Given the description of an element on the screen output the (x, y) to click on. 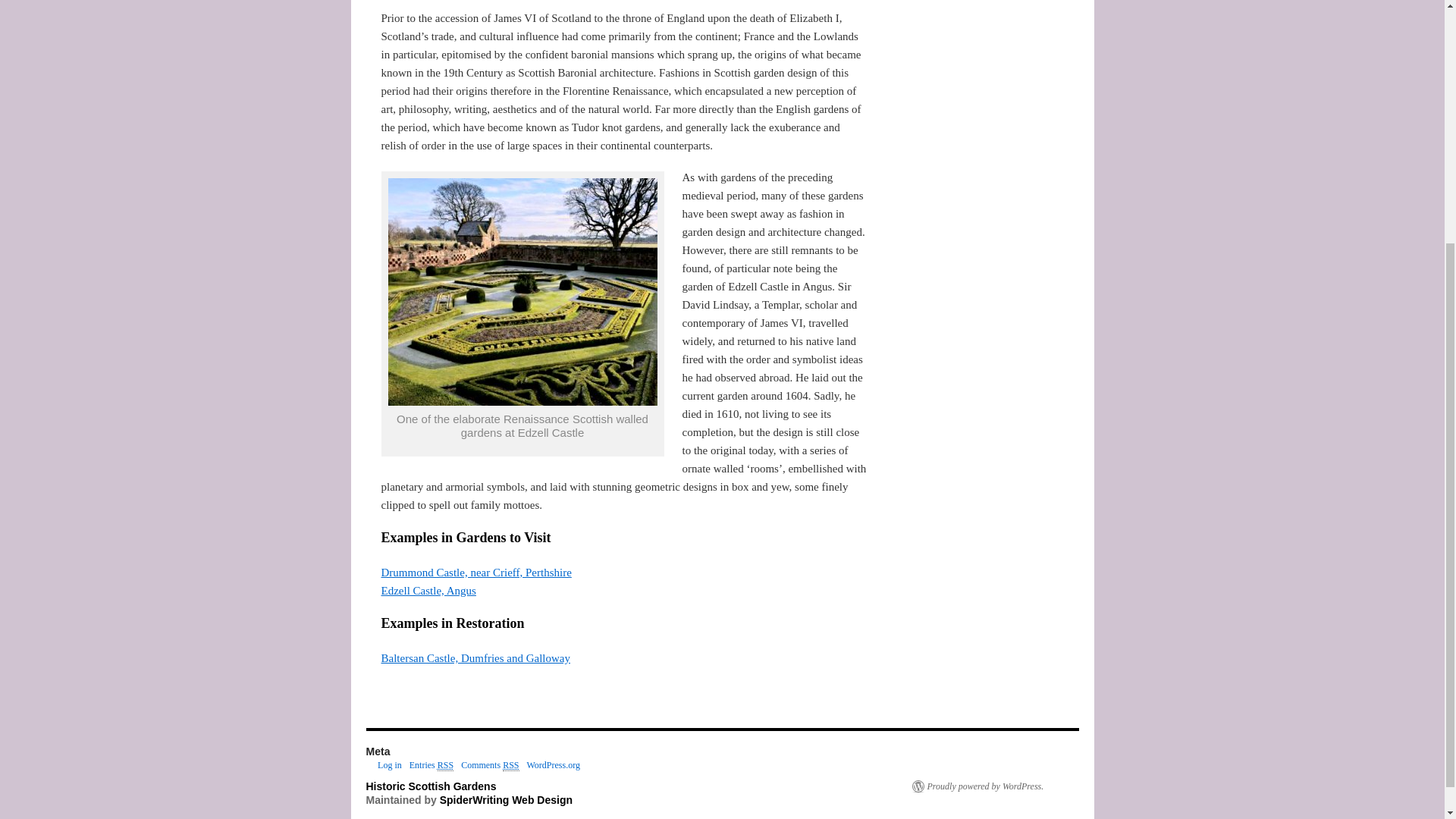
SpiderWriting Web Design (505, 799)
Really Simple Syndication (445, 765)
Historic Scottish Gardens (430, 786)
Historic Scottish Gardens (430, 786)
Edzell Castle, Angus (428, 590)
WordPress.org (552, 765)
Proudly powered by WordPress. (977, 786)
Drummond Castle, near Crieff, Perthshire (475, 572)
Semantic Personal Publishing Platform (977, 786)
Entries RSS (430, 765)
Log in (389, 765)
Baltersan Castle, Dumfries and Galloway (475, 657)
Comments RSS (489, 765)
edzell (523, 291)
